Given the description of an element on the screen output the (x, y) to click on. 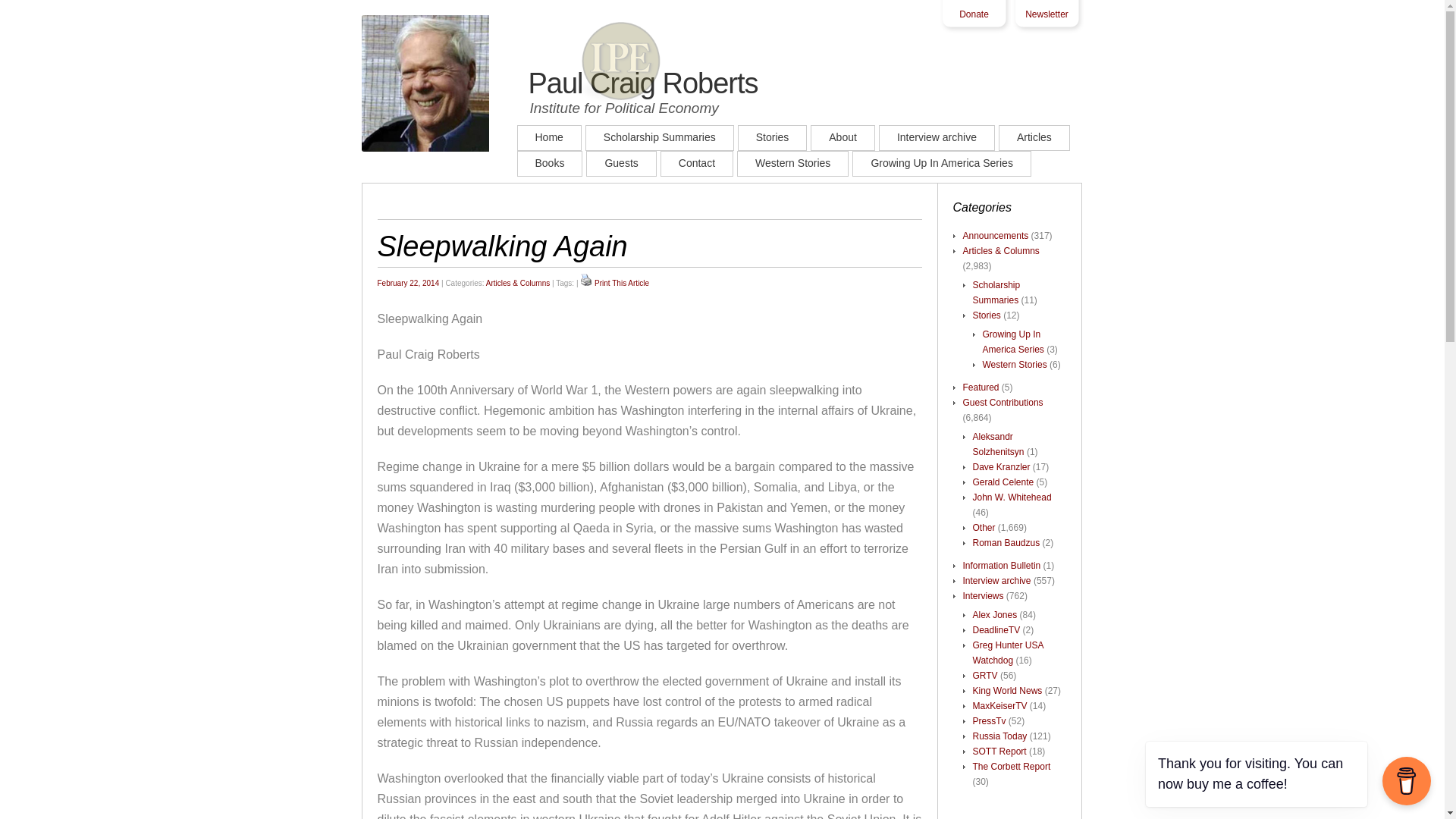
Home (457, 83)
February 22, 2014 (408, 283)
Books (549, 164)
Interview archive (936, 139)
About (843, 139)
Print This Article (621, 283)
Home (457, 83)
Return Home (548, 139)
Guests (621, 164)
Home (548, 139)
